Given the description of an element on the screen output the (x, y) to click on. 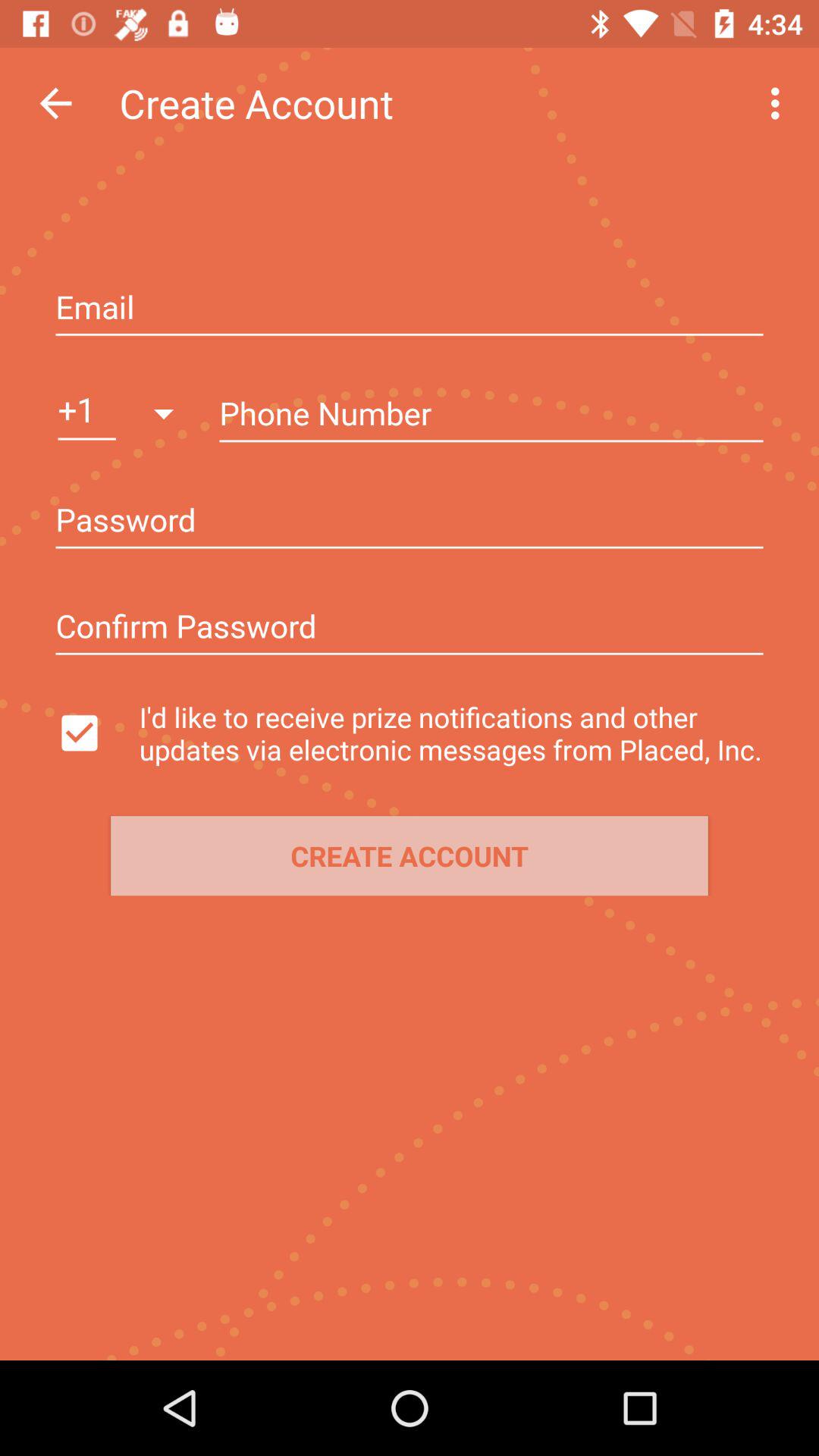
place to enter the phone number (491, 415)
